Given the description of an element on the screen output the (x, y) to click on. 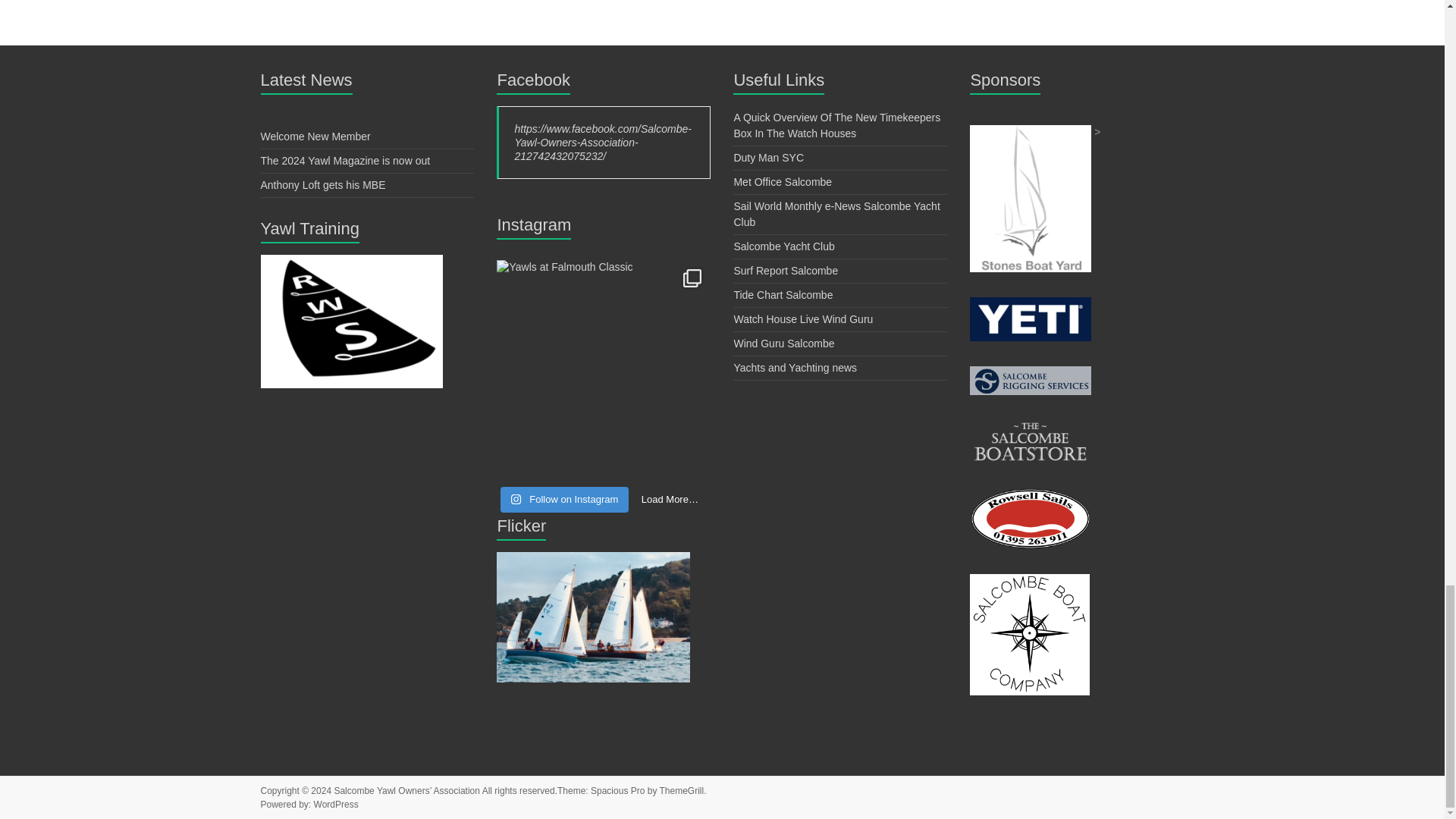
Advertisement (1029, 372)
Advertisement (1029, 580)
Advertisement (1029, 426)
Advertisement (1029, 304)
Advertisement (351, 261)
Advertisement (1029, 132)
See my photos on Flickr! (593, 558)
Advertisement (1029, 494)
